Given the description of an element on the screen output the (x, y) to click on. 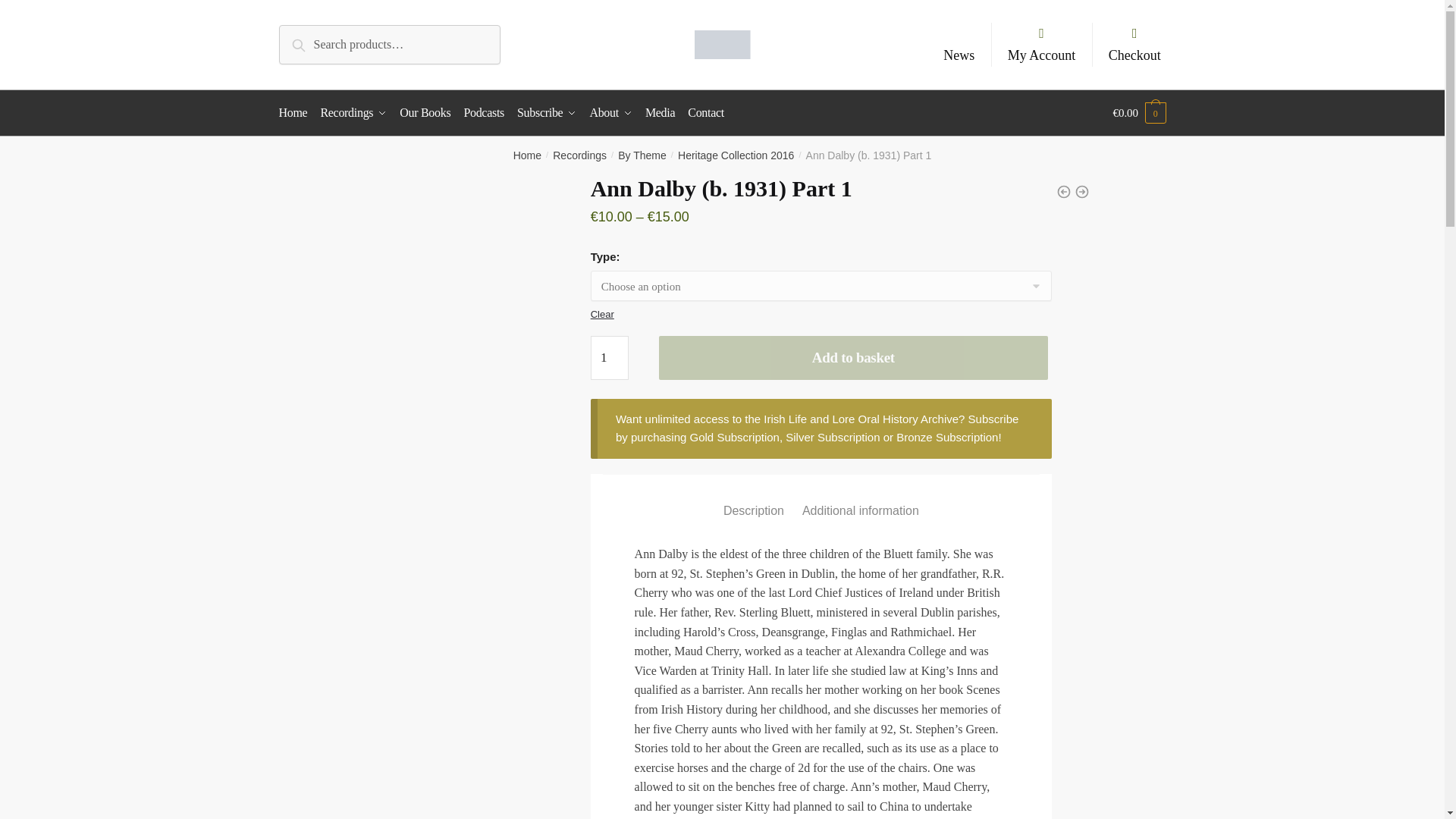
Heritage Collection 2016 (735, 155)
Subscribe (546, 112)
Contact (705, 112)
Our Books (425, 112)
Search (314, 42)
My Account (1041, 44)
View your shopping cart (1139, 112)
Podcasts (484, 112)
Home (527, 155)
By Theme (641, 155)
